Given the description of an element on the screen output the (x, y) to click on. 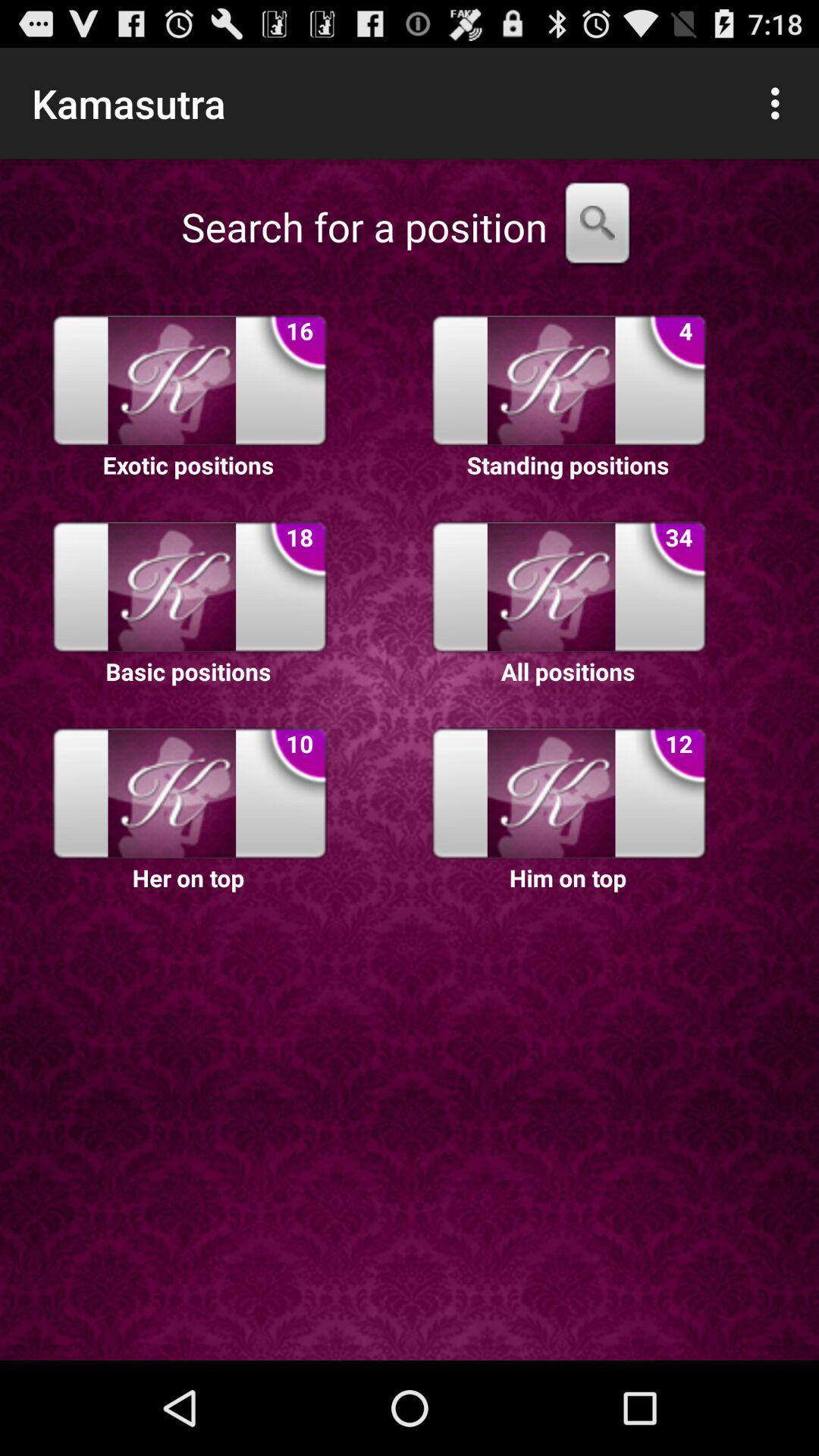
tap app next to the kamasutra icon (779, 103)
